Given the description of an element on the screen output the (x, y) to click on. 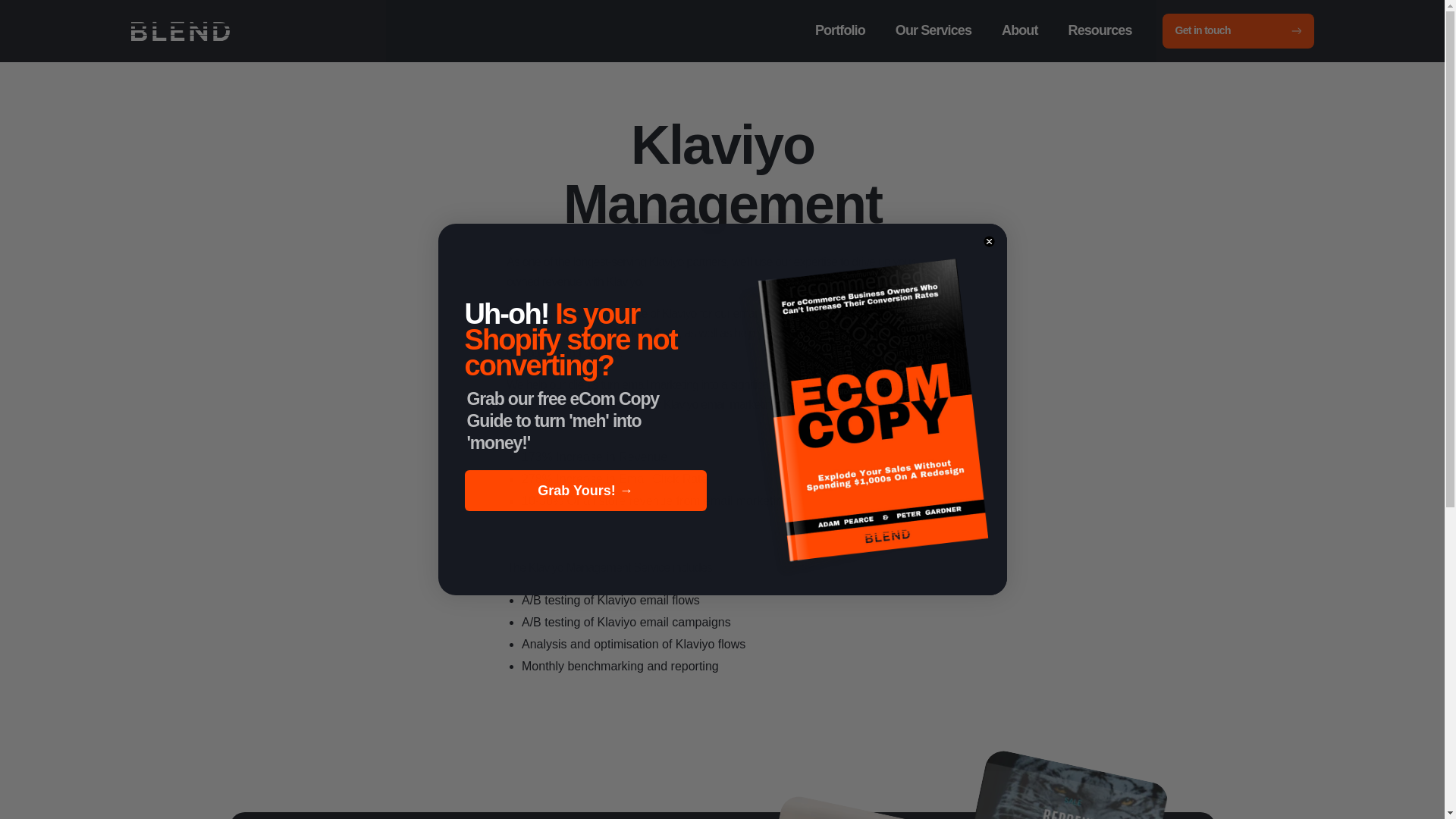
Our Services (933, 30)
Grab our free eCom Copy Guide to turn 'meh' into 'money!' (586, 422)
Get in touch (1237, 30)
Resources (1099, 30)
Grab our free eCom Copy Guide to turn 'meh' into 'money!' (586, 422)
About (1019, 30)
Skip to product information (580, 115)
Portfolio (839, 30)
Close dialog 2 (988, 241)
Skip to content (75, 15)
